Given the description of an element on the screen output the (x, y) to click on. 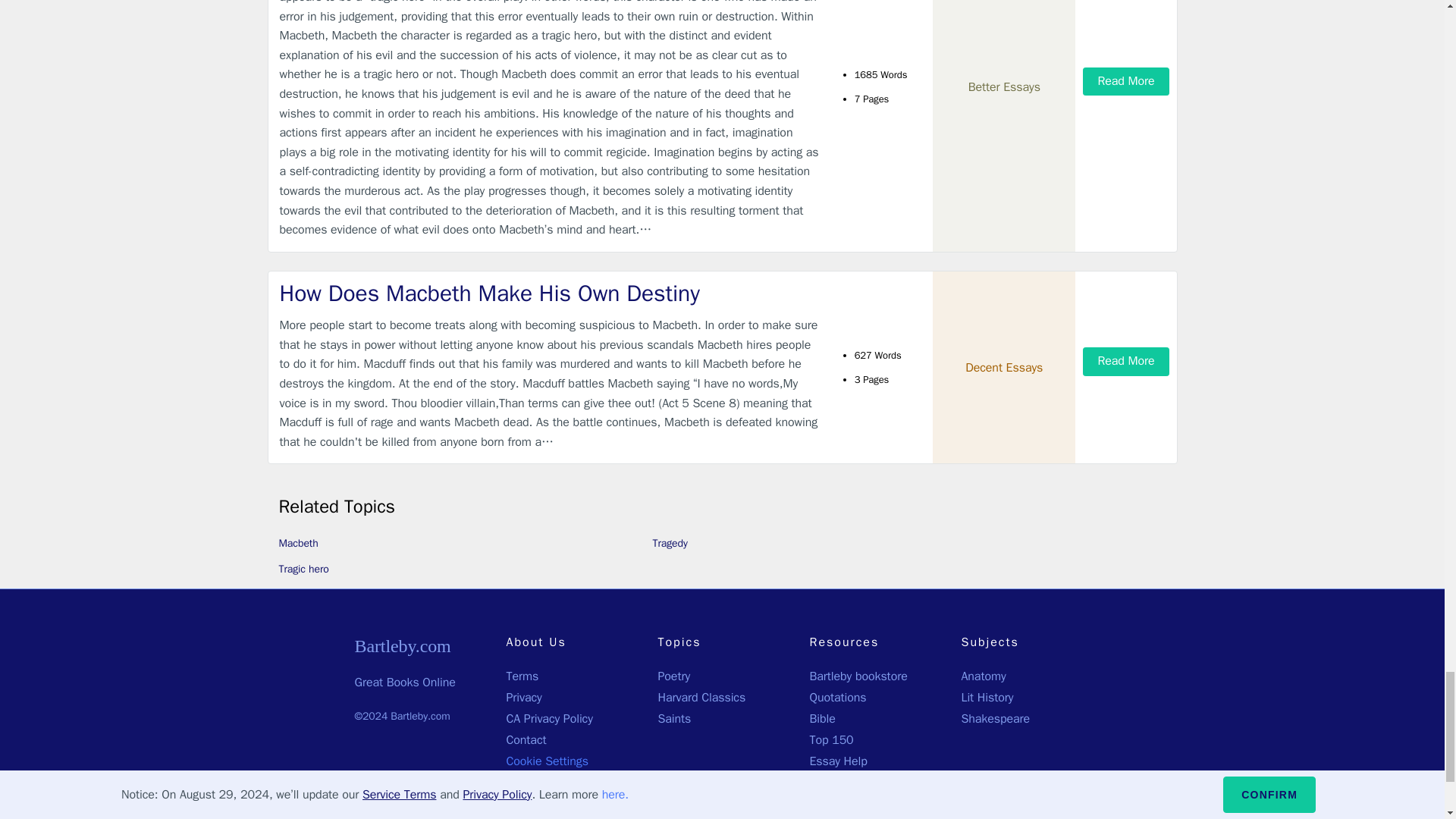
Tragic hero (304, 568)
Tragedy (669, 543)
Macbeth (298, 543)
